Given the description of an element on the screen output the (x, y) to click on. 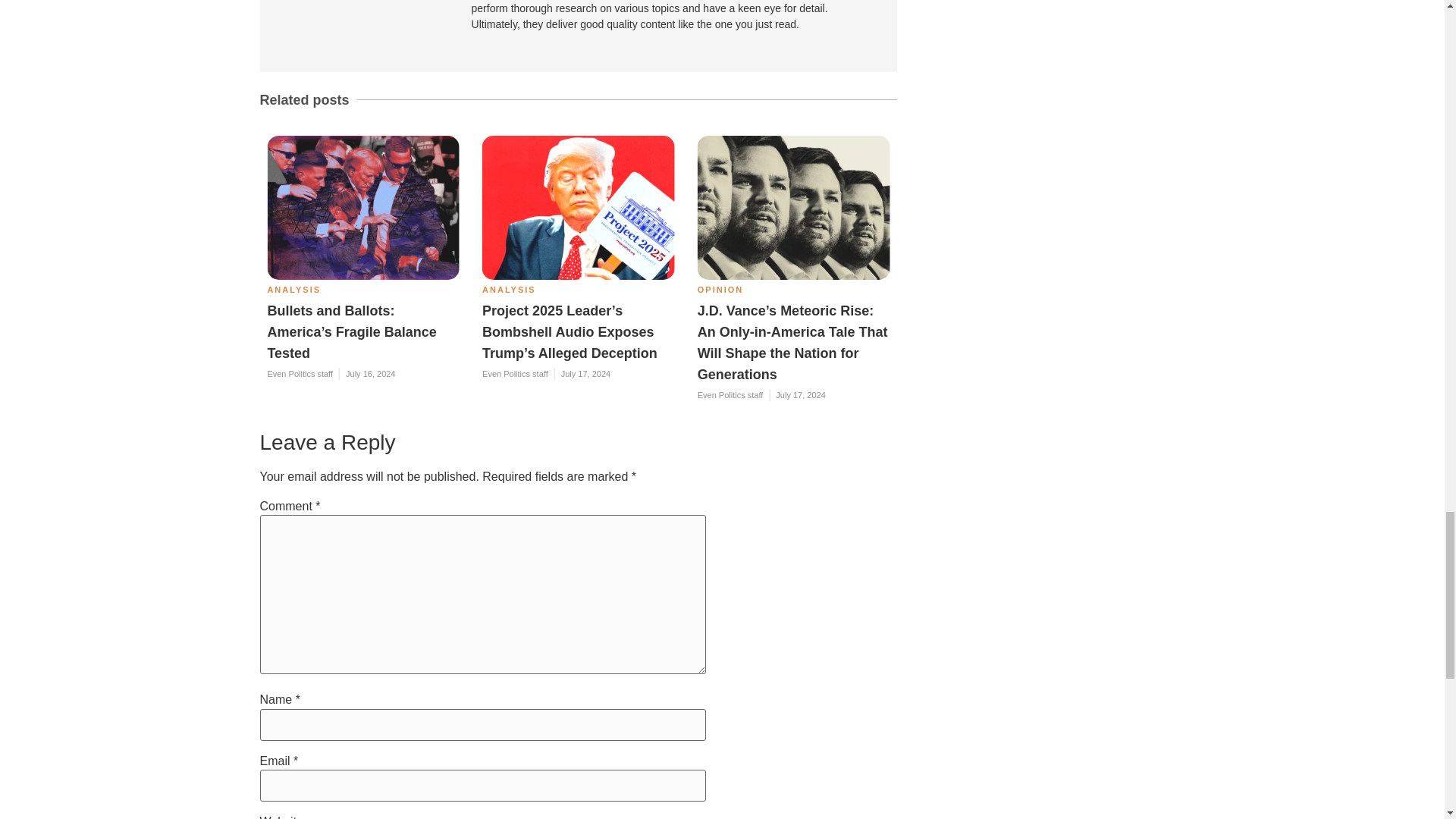
The Heritage Foundation (578, 207)
attempted assassination of donald trump1 (363, 207)
J.D. Vance (793, 207)
